Given the description of an element on the screen output the (x, y) to click on. 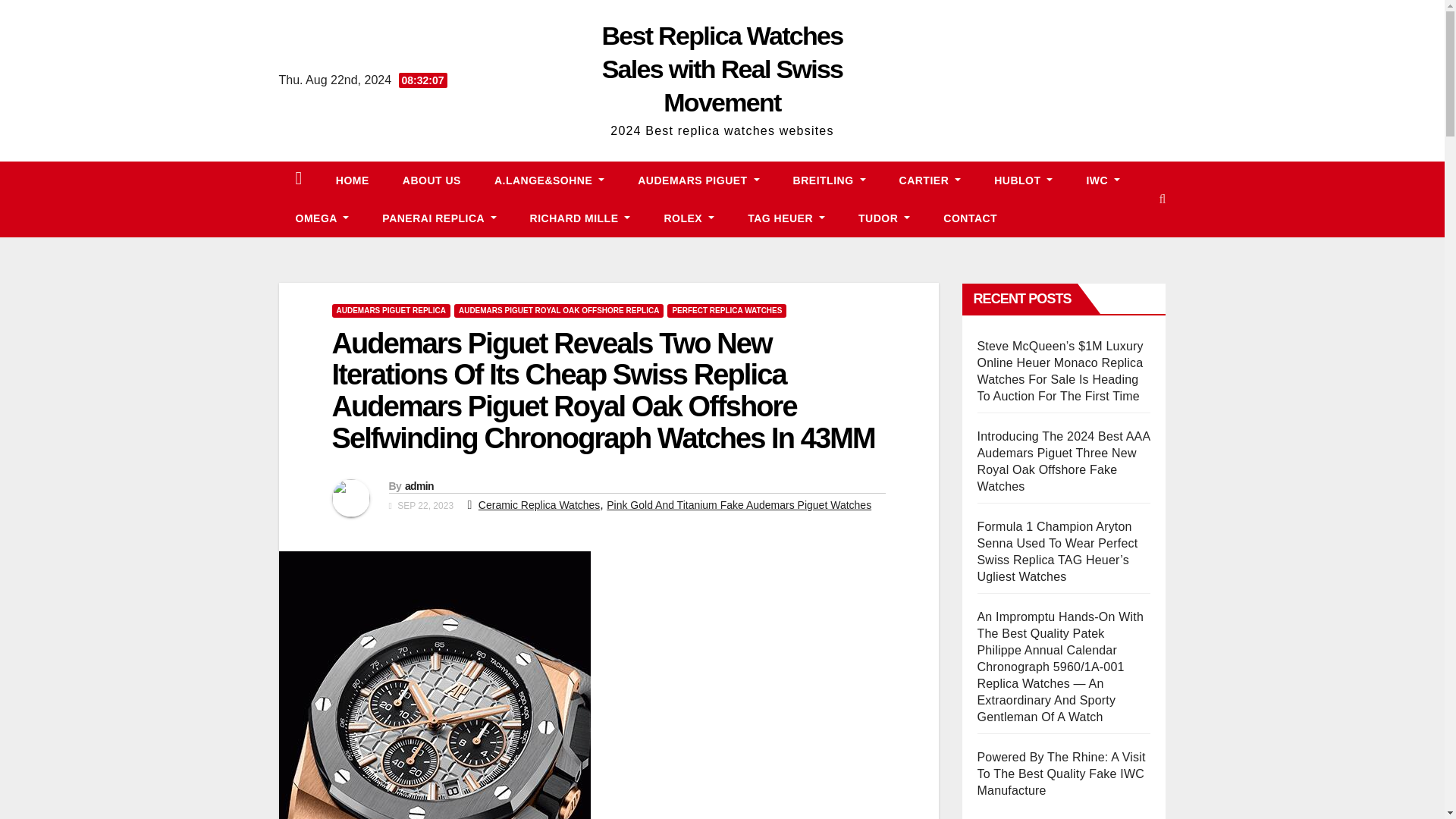
BREITLING (829, 180)
IWC (1102, 180)
Home (351, 180)
Breitling (829, 180)
Best Replica Watches Sales with Real Swiss Movement (722, 69)
Audemars Piguet (698, 180)
HOME (351, 180)
About Us (431, 180)
OMEGA (322, 218)
AUDEMARS PIGUET (698, 180)
